Given the description of an element on the screen output the (x, y) to click on. 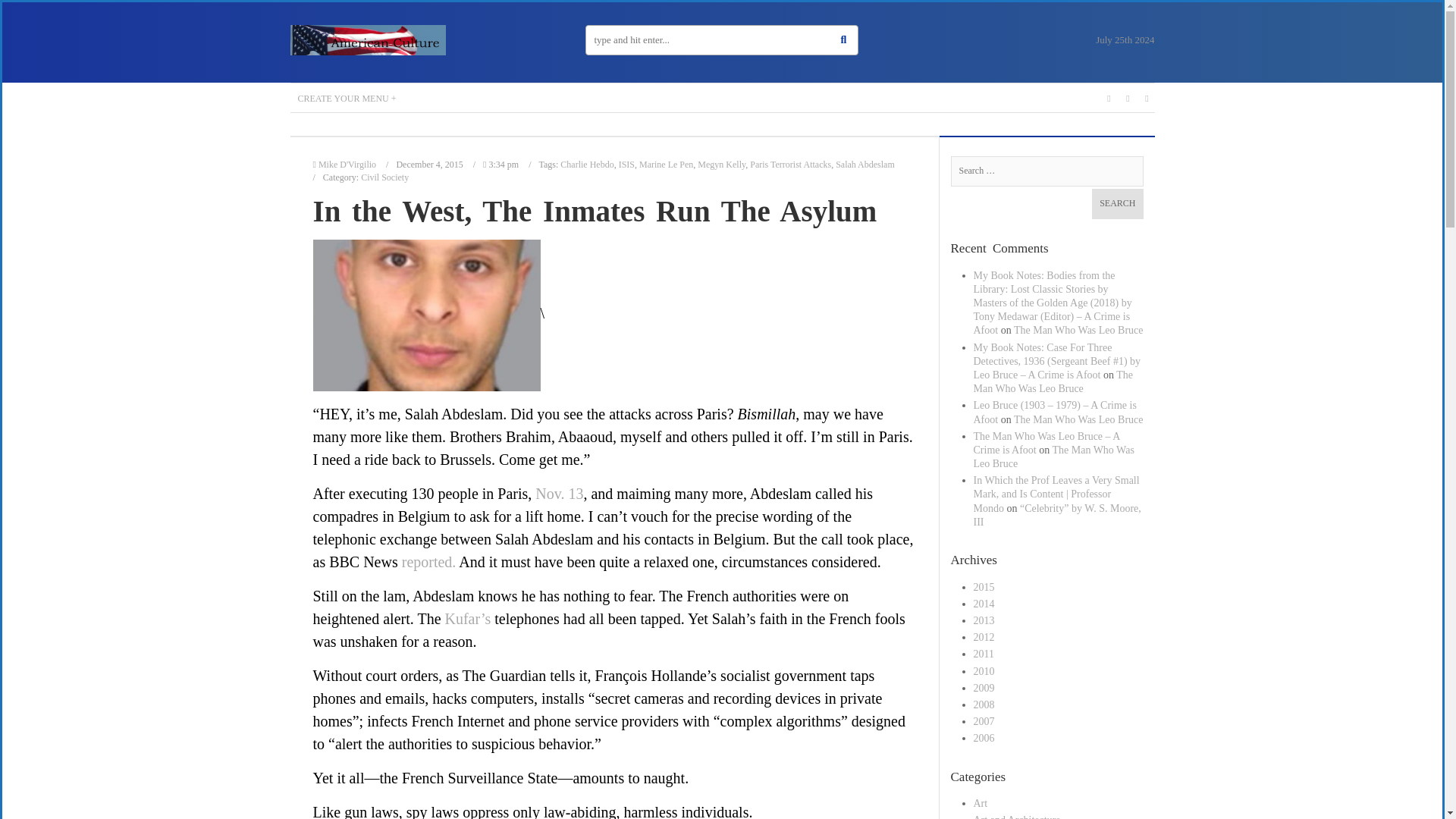
The Man Who Was Leo Bruce (1077, 329)
Paris Terrorist Attacks (790, 163)
Megyn Kelly (721, 163)
Salah Abdeslam (865, 163)
Posts by Mike D'Virgilio (346, 163)
reported. (429, 561)
Charlie Hebdo (586, 163)
Marine Le Pen (666, 163)
Search (1117, 204)
Civil Society (385, 176)
Search (1117, 204)
ISIS (626, 163)
Nov. 13 (559, 493)
Search (1117, 204)
Mike D'Virgilio (346, 163)
